Given the description of an element on the screen output the (x, y) to click on. 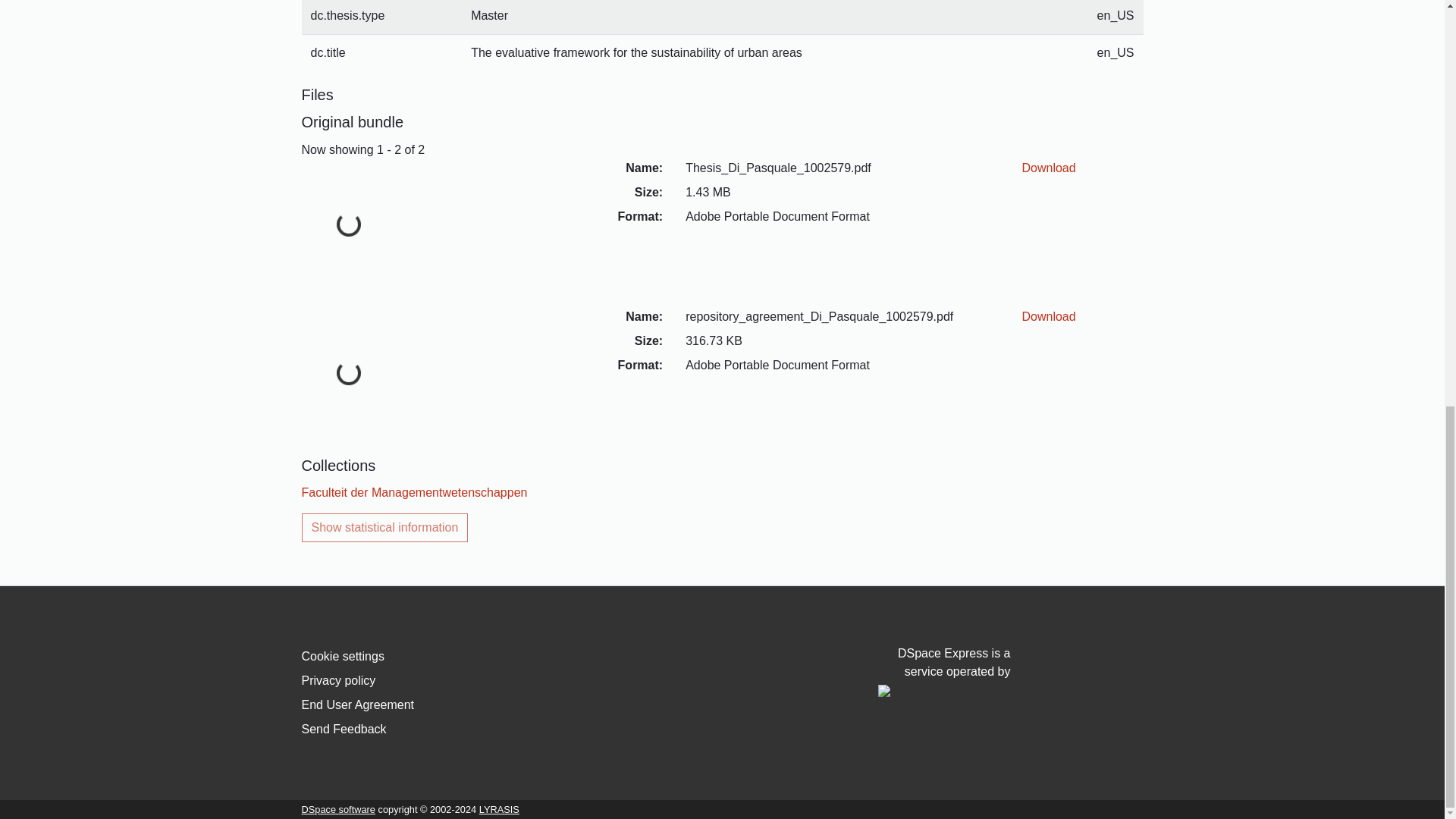
Faculteit der Managementwetenschappen (414, 492)
Privacy policy (338, 680)
End User Agreement (357, 704)
Send Feedback (344, 728)
DSpace software (338, 808)
LYRASIS (499, 808)
Show statistical information (384, 527)
Cookie settings (342, 656)
DSpace Express is a service operated by (943, 671)
Download (1048, 167)
Download (1048, 316)
